Given the description of an element on the screen output the (x, y) to click on. 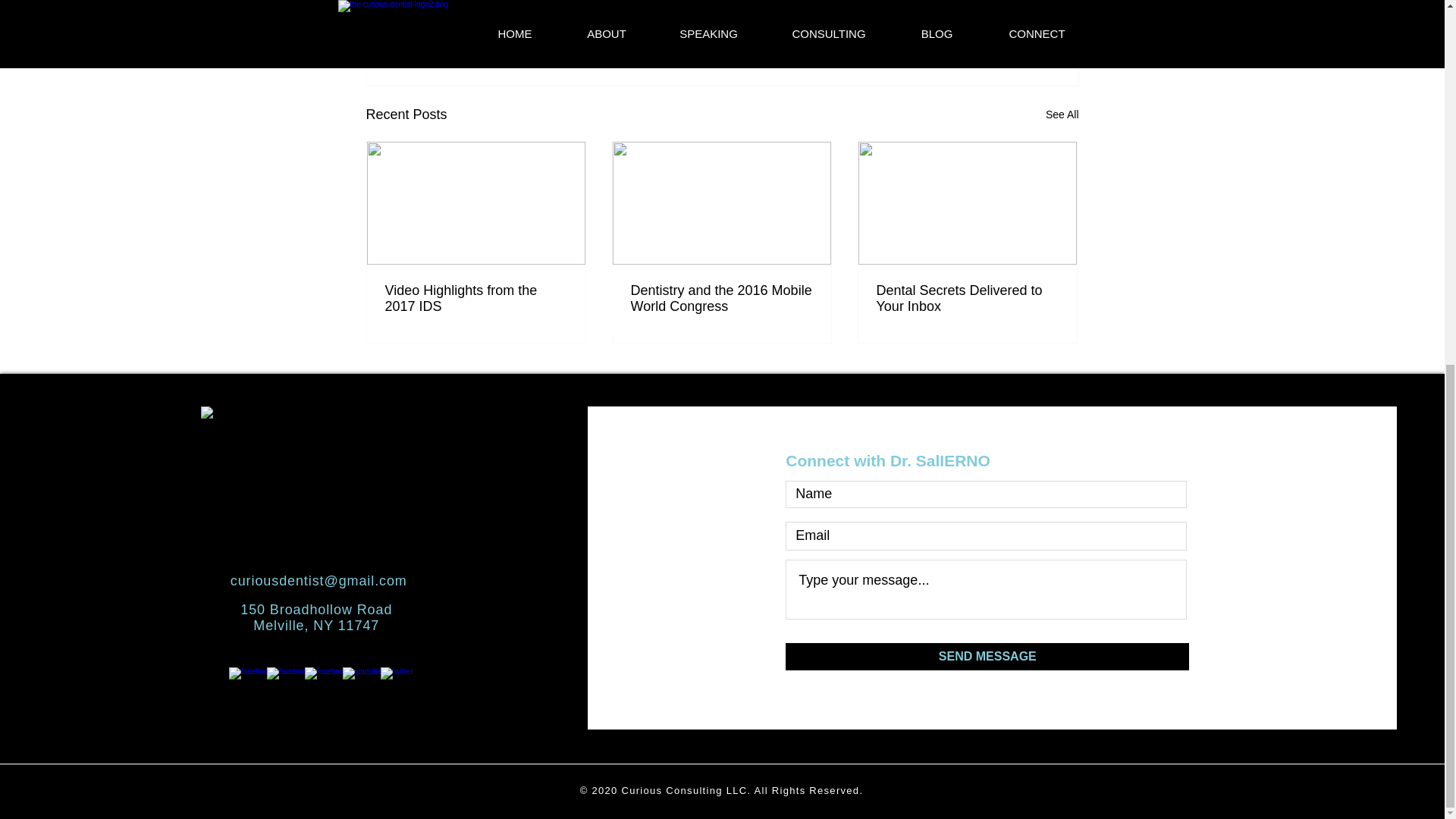
Dental Secrets Delivered to Your Inbox (967, 298)
Clinical Dentistry (963, 16)
See All (1061, 115)
Dentistry and the 2016 Mobile World Congress (721, 298)
Video Highlights from the 2017 IDS (476, 298)
